Given the description of an element on the screen output the (x, y) to click on. 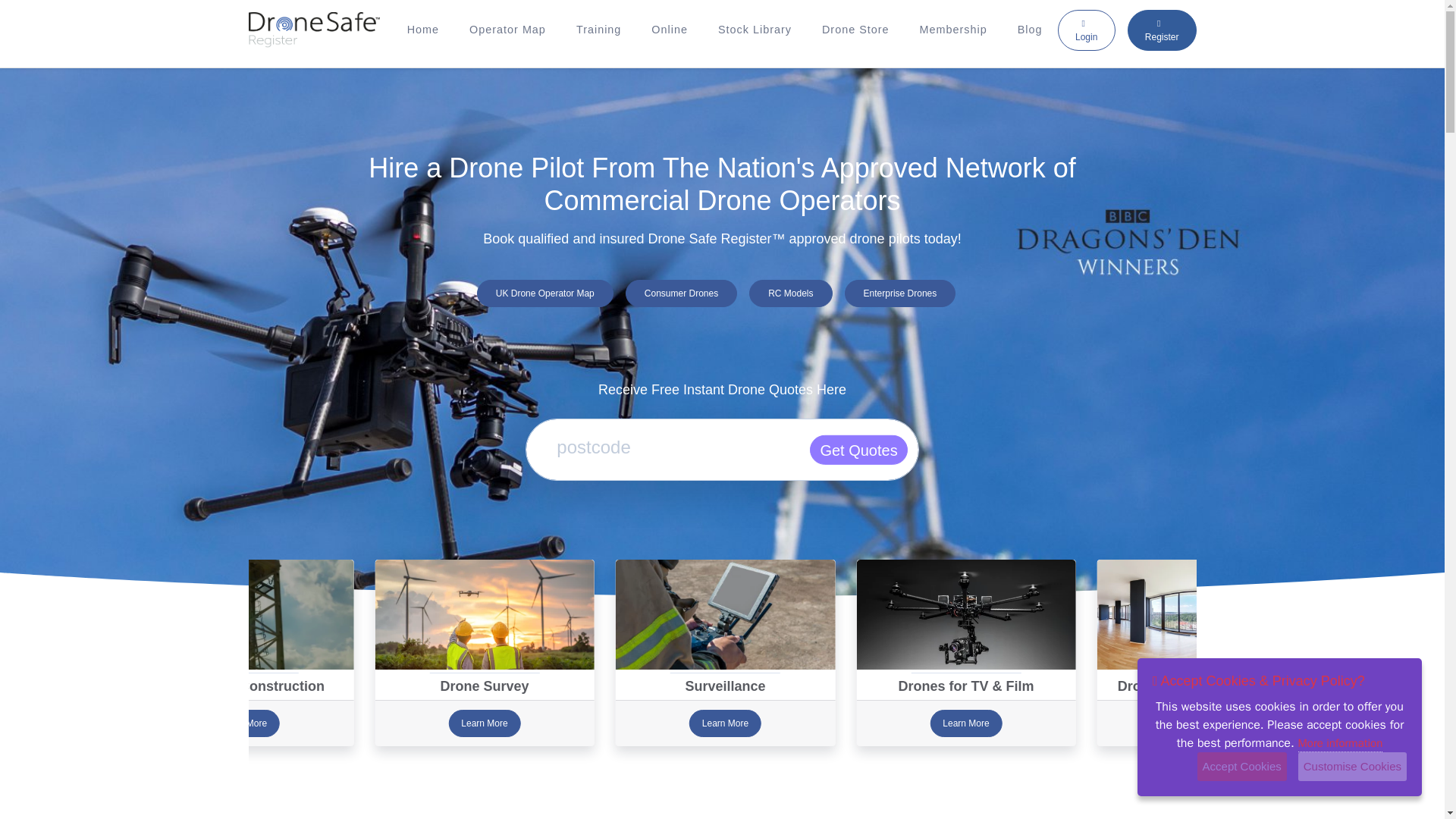
Login (1086, 29)
Stock Library (754, 29)
Home (422, 29)
Membership (953, 29)
Consumer Drones (681, 293)
UK Drone Operator Map (544, 293)
Training (598, 29)
Blog (1030, 29)
Operator Map (507, 29)
Enterprise Drones (900, 293)
Drone Store (855, 29)
Register (1161, 29)
Online (669, 29)
RC Models (790, 293)
Get Quotes (858, 449)
